Given the description of an element on the screen output the (x, y) to click on. 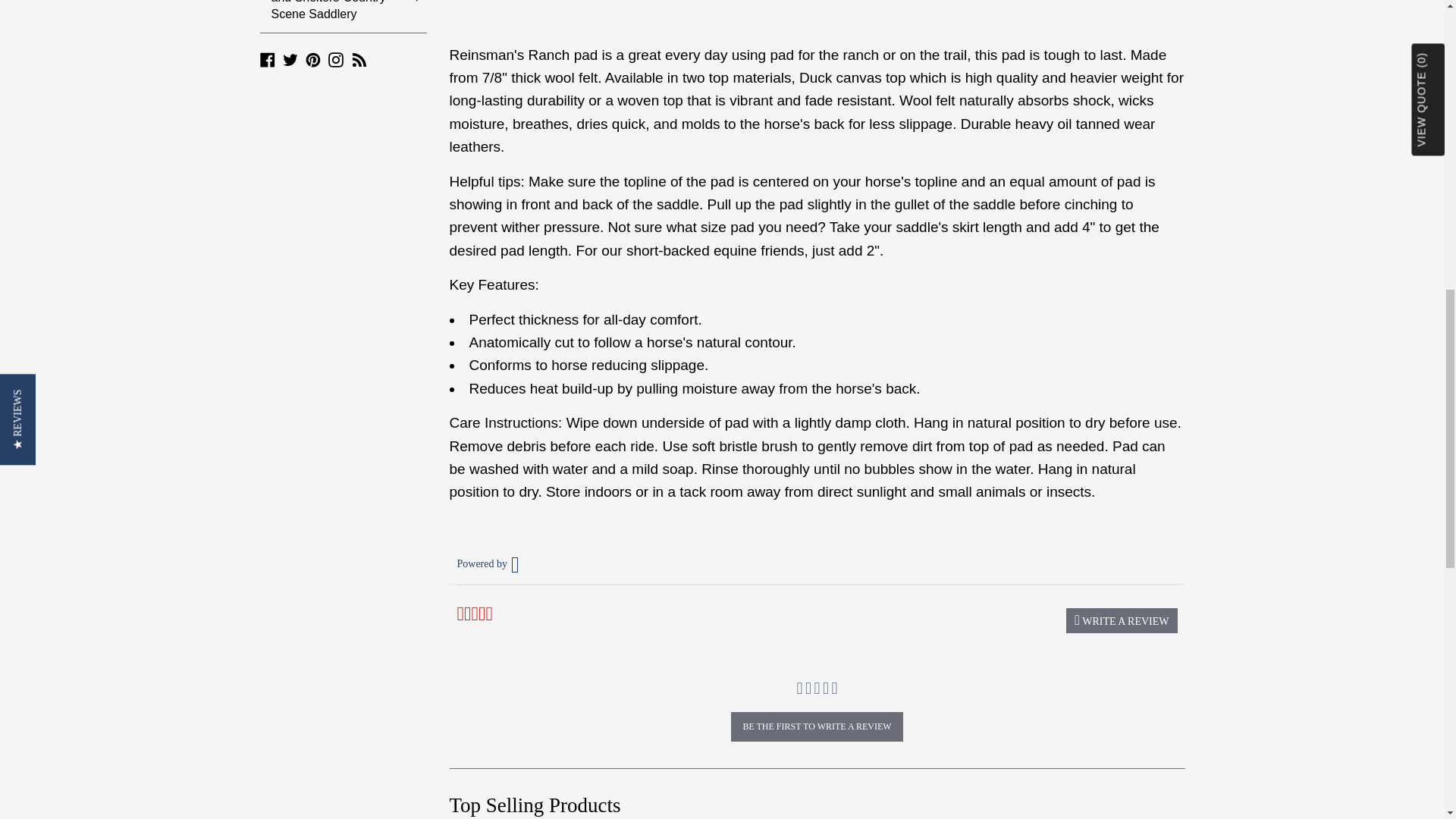
Country Scene Saddlery and Pet Supplies on Instagram (336, 58)
Facebook (267, 58)
Instagram (336, 58)
Blog (359, 58)
Country Scene Saddlery and Pet Supplies on Twitter (290, 58)
Country Scene Saddlery and Pet Supplies on Pinterest (312, 58)
Brownings Rural  Stables and Shelters-Country Scene Saddlery (342, 16)
Pinterest (312, 58)
Country Scene Saddlery and Pet Supplies on Facebook (267, 58)
Brownings Rural Stables and Shelters-Country Scene Saddlery (342, 16)
Twitter (290, 58)
